Given the description of an element on the screen output the (x, y) to click on. 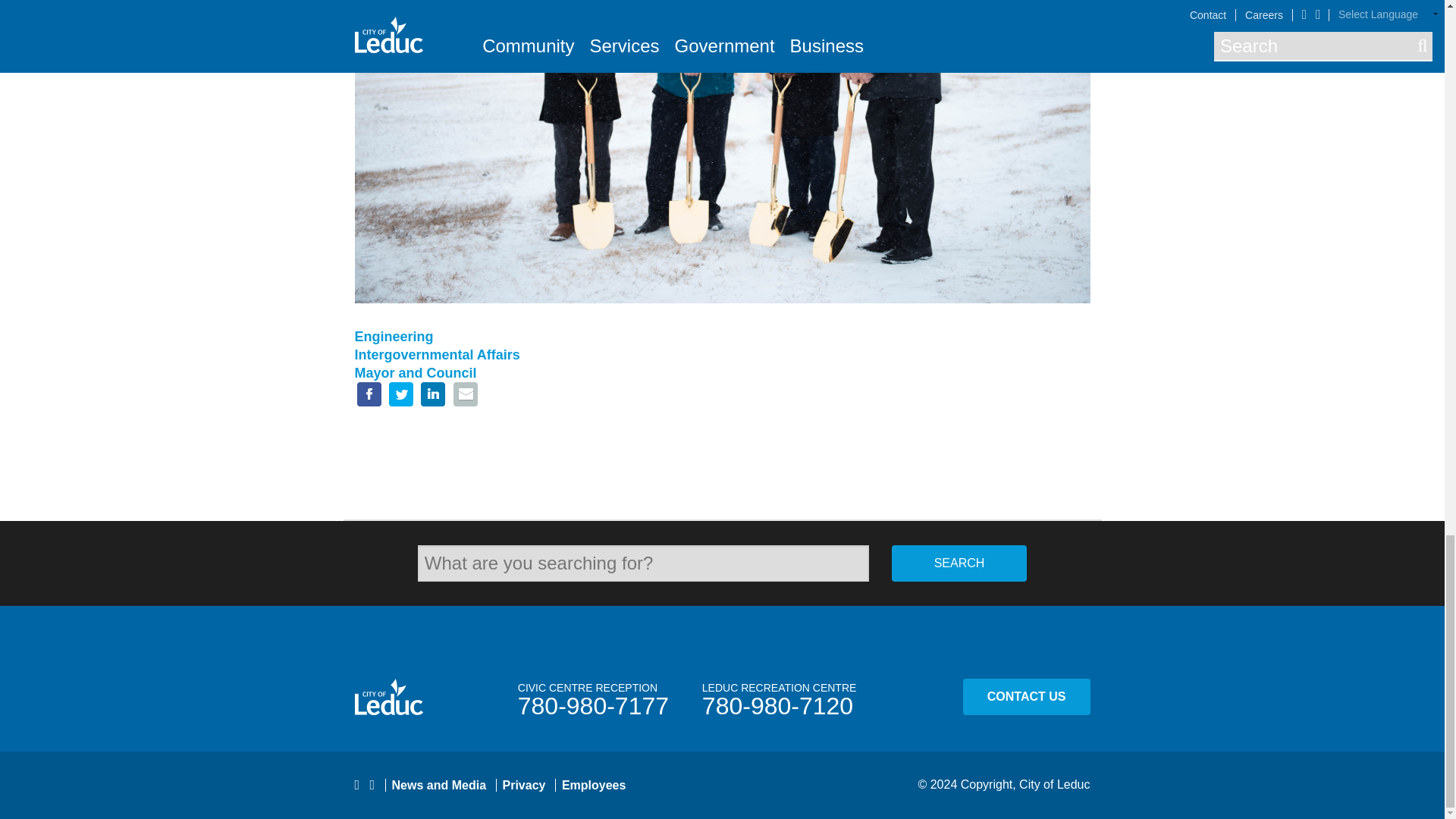
City of Leduc Home (389, 696)
City of Leduc Home (406, 696)
